Given the description of an element on the screen output the (x, y) to click on. 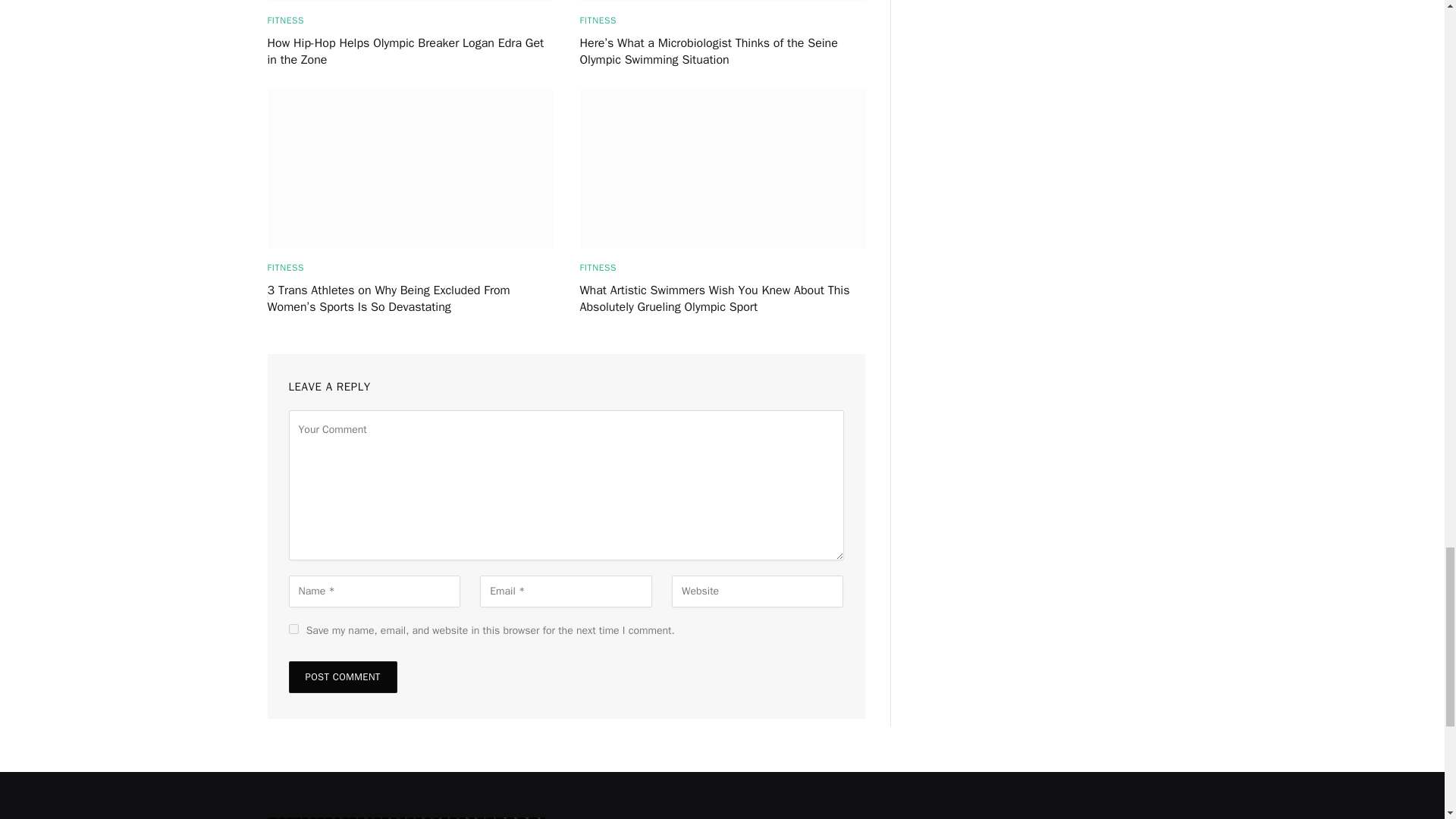
Post Comment (342, 676)
yes (293, 628)
